Given the description of an element on the screen output the (x, y) to click on. 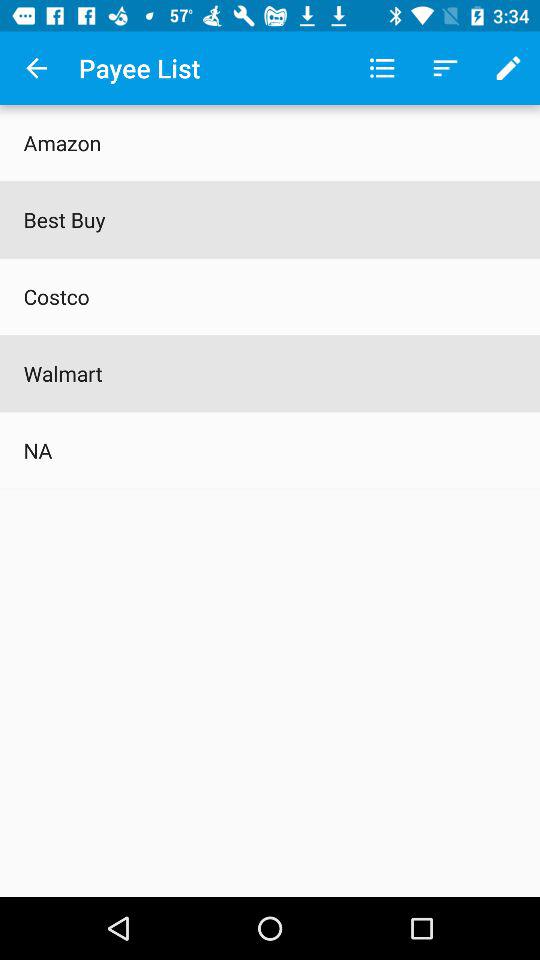
tap app to the right of payee list icon (381, 67)
